Given the description of an element on the screen output the (x, y) to click on. 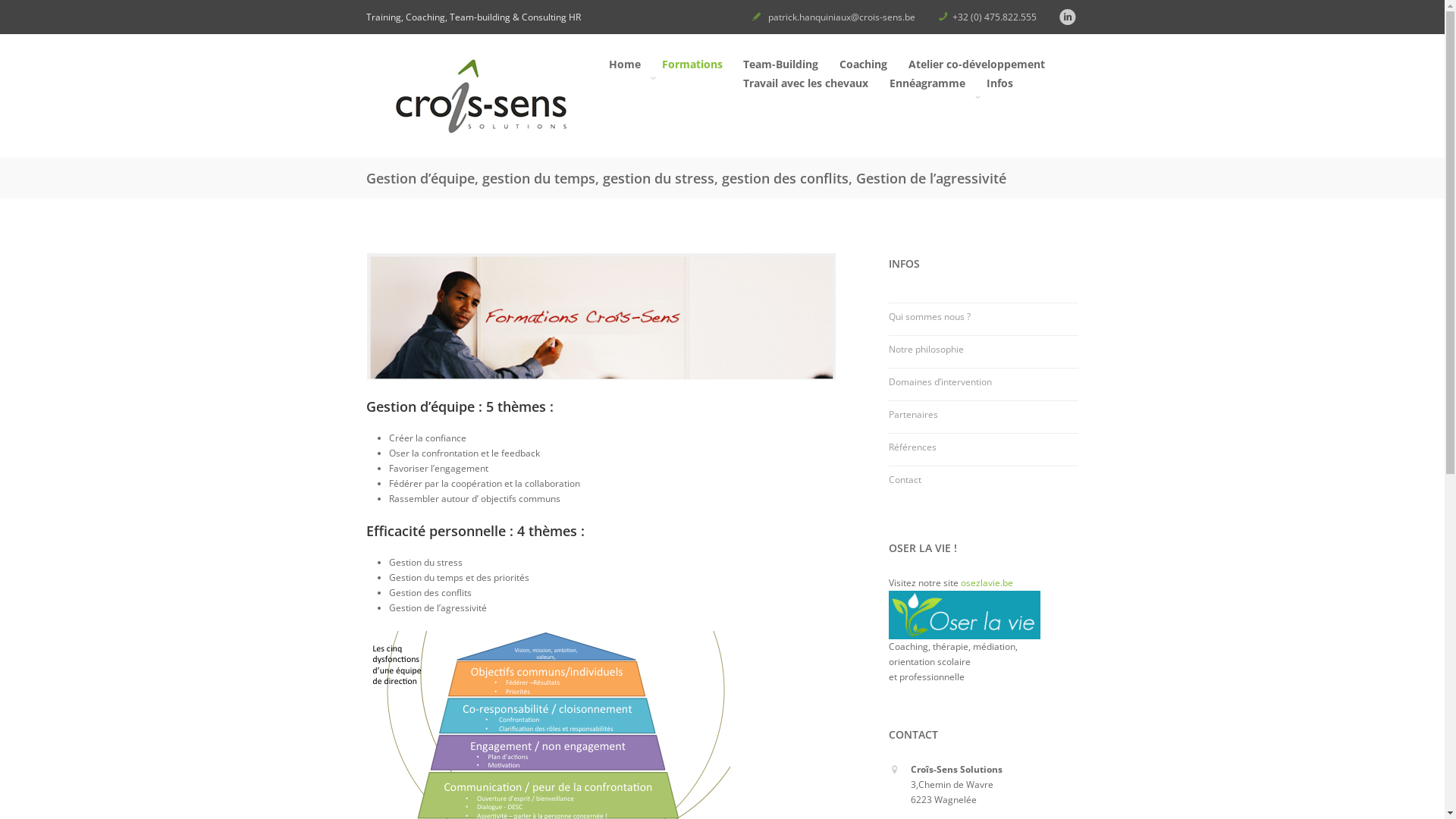
Partenaires Element type: text (913, 413)
Coaching Element type: text (862, 65)
osezlavie.be Element type: text (986, 582)
Home Element type: text (624, 65)
Team-Building Element type: text (780, 65)
patrick.hanquiniaux@crois-sens.be Element type: text (840, 16)
Formations Element type: text (691, 73)
Qui sommes nous ? Element type: text (929, 316)
Home Element type: hover (479, 99)
Notre philosophie Element type: text (925, 348)
+32 (0) 475.822.555 Element type: text (994, 16)
Contact Element type: text (904, 479)
Travail avec les chevaux Element type: text (805, 84)
Infos Element type: text (998, 92)
